Given the description of an element on the screen output the (x, y) to click on. 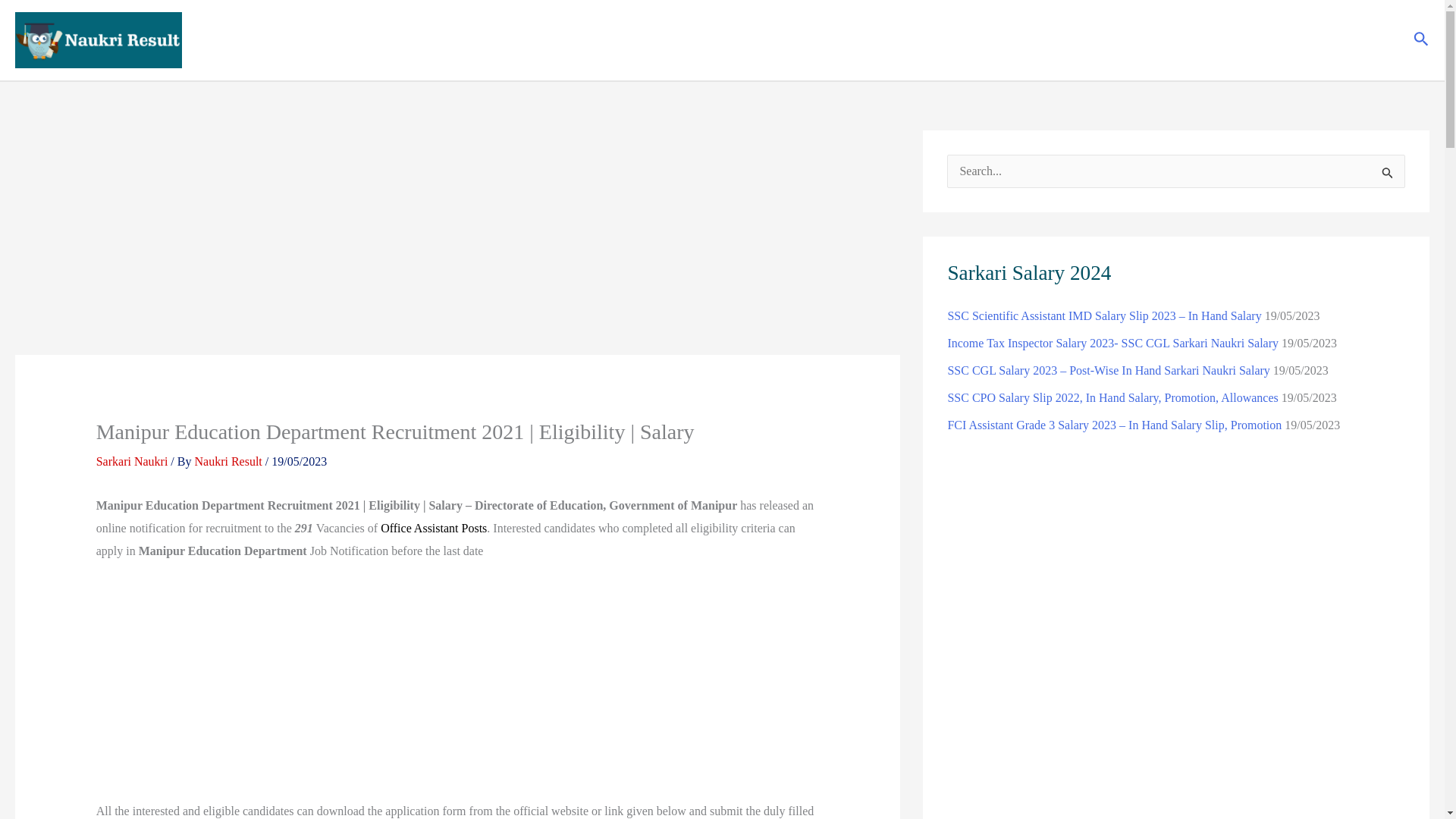
Sarkari Naukri (786, 39)
Scholarship (1199, 39)
Admit Card (930, 39)
Syllabus (1358, 39)
Date Sheet (1278, 39)
Answer Key (1014, 39)
Sarkari Naukri (132, 461)
View all posts by Naukri Result (228, 461)
Naukri Result (228, 461)
